Given the description of an element on the screen output the (x, y) to click on. 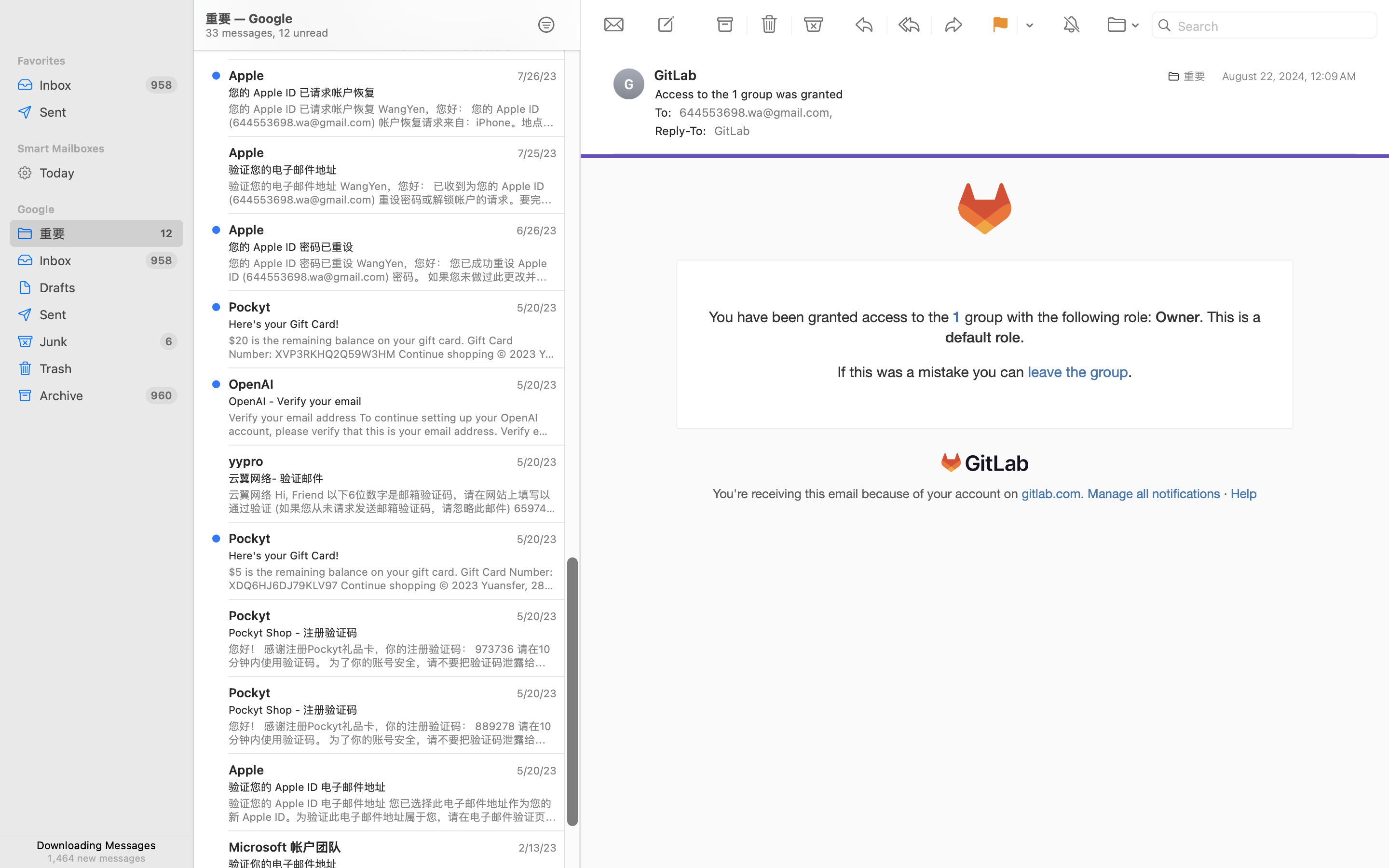
您好！ 感谢注册Pockyt礼品卡，你的注册验证码： 973736 请在10分钟内使用验证码。 为了你的账号安全，请不要把验证码泄露给其他人，谨防被骗。 如果这不是你的请求，请忽略此邮件。 顺颂商祺, Pockyt礼品卡 浏览 shop.pockyt.io 了解更多礼品卡资讯 Element type: AXStaticText (392, 655)
If this was a mistake you can Element type: AXStaticText (932, 371)
G Element type: AXStaticText (628, 83)
Archive Element type: AXStaticText (88, 395)
您的 Apple ID 密码已重设 Element type: AXStaticText (388, 246)
